Given the description of an element on the screen output the (x, y) to click on. 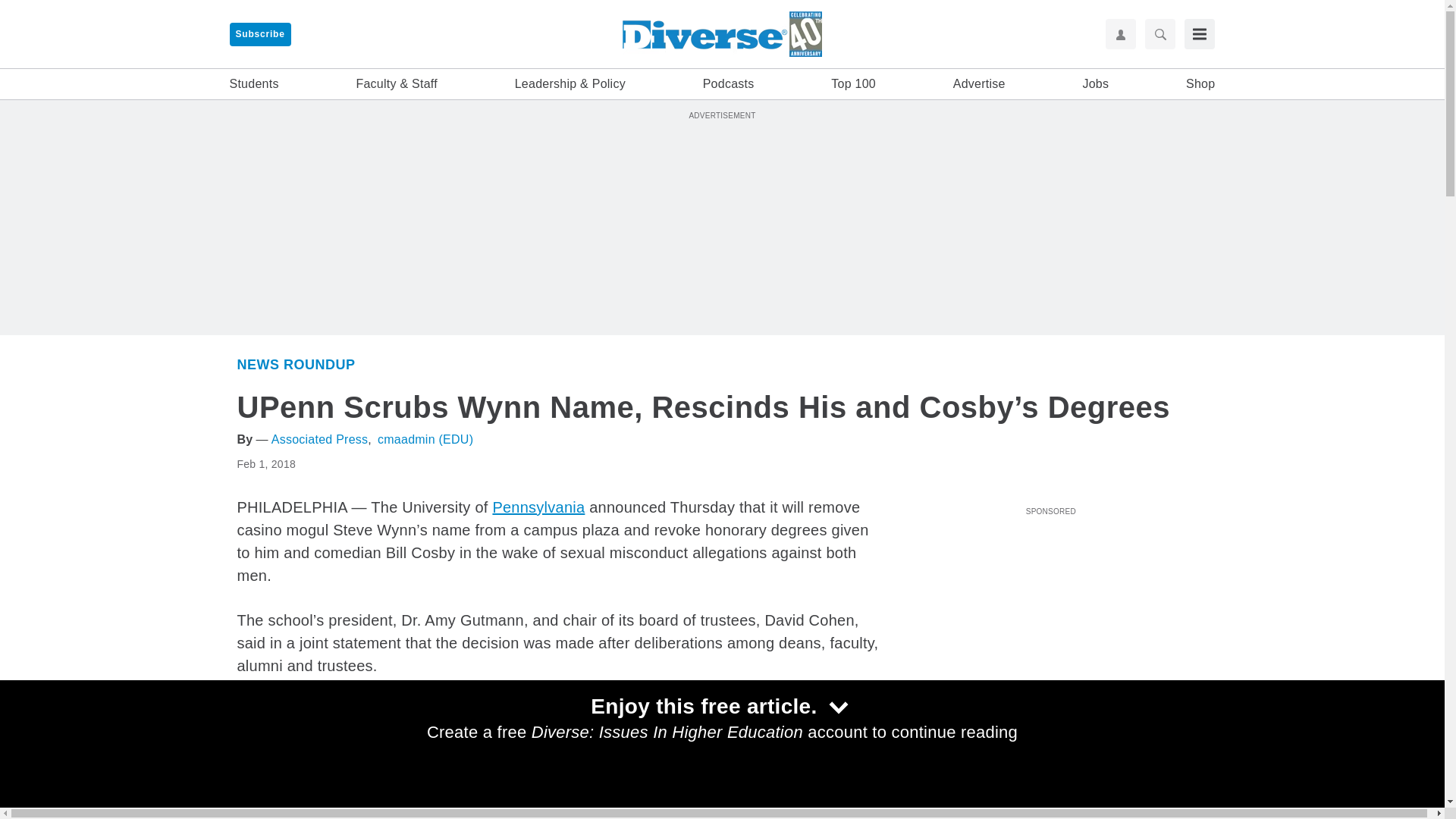
Shop (1200, 84)
Subscribe (258, 33)
News Roundup (295, 364)
Advertise (979, 84)
Students (253, 84)
Youtube Player (1050, 606)
Top 100 (853, 84)
News Roundup (940, 777)
Jobs (1094, 84)
Podcasts (728, 84)
Subscribe (258, 33)
